Given the description of an element on the screen output the (x, y) to click on. 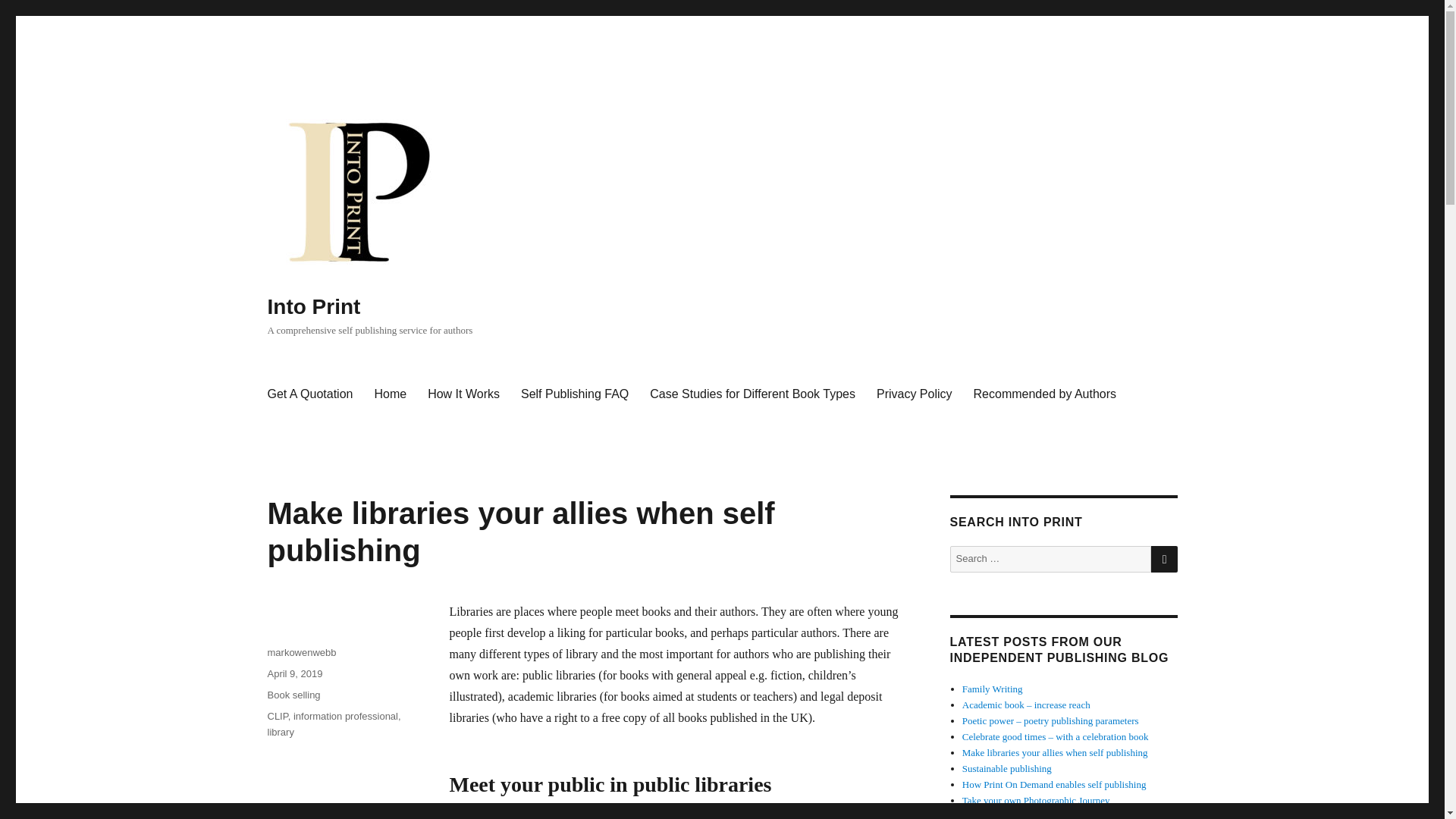
Book selling (293, 695)
Family Writing (992, 688)
How Print On Demand enables self publishing (1054, 784)
Recommended by Authors (1044, 394)
Take your own Photographic Journey (1035, 799)
CLIP (276, 715)
Case Studies for Different Book Types (752, 394)
Sustainable publishing (1006, 767)
Privacy Policy (914, 394)
Home (389, 394)
information professional (345, 715)
April 9, 2019 (293, 673)
Into Print (312, 306)
Get A Quotation (309, 394)
library (280, 731)
